Given the description of an element on the screen output the (x, y) to click on. 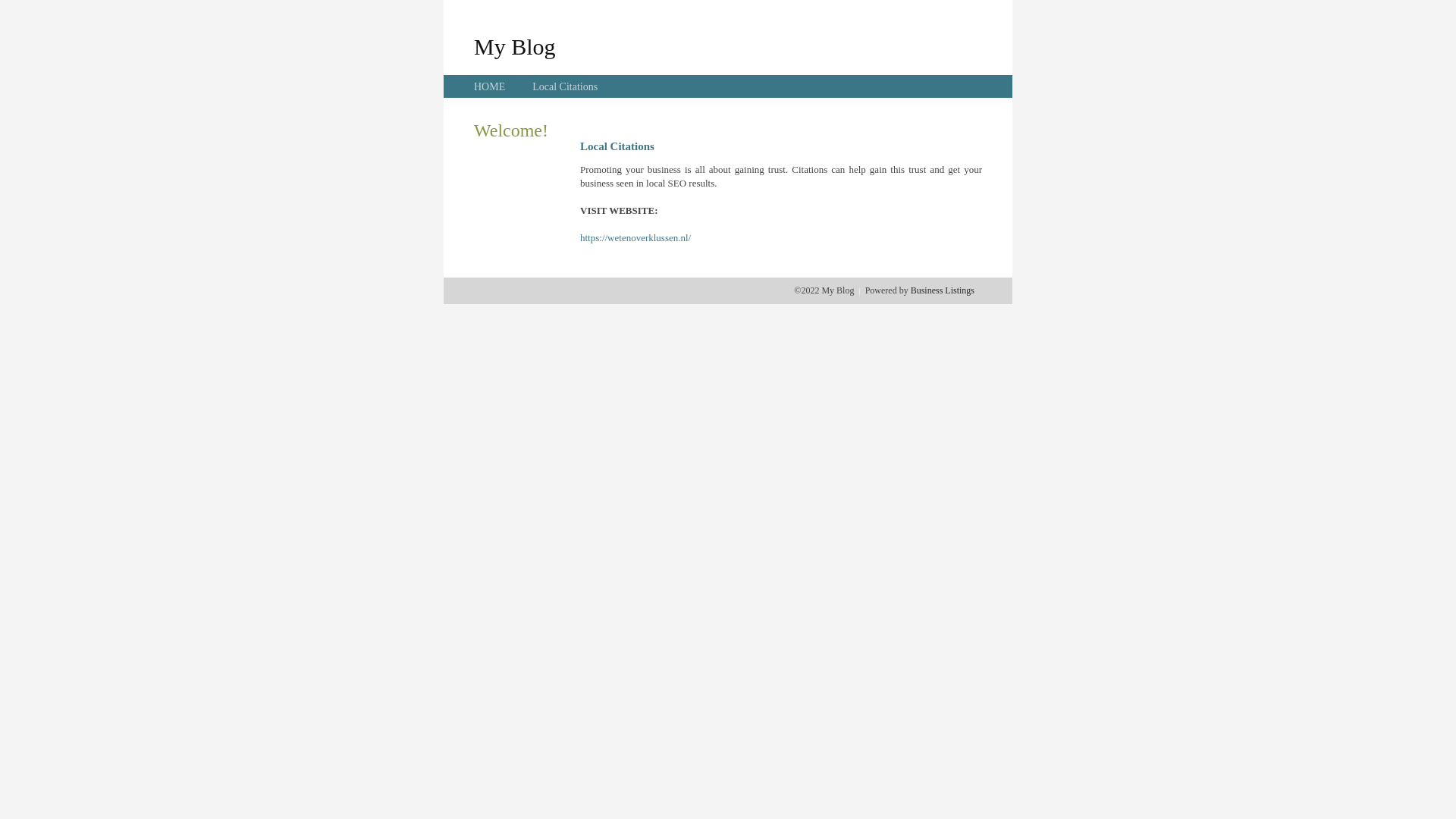
HOME Element type: text (489, 86)
Local Citations Element type: text (564, 86)
My Blog Element type: text (514, 46)
Business Listings Element type: text (942, 290)
https://wetenoverklussen.nl/ Element type: text (635, 237)
